Given the description of an element on the screen output the (x, y) to click on. 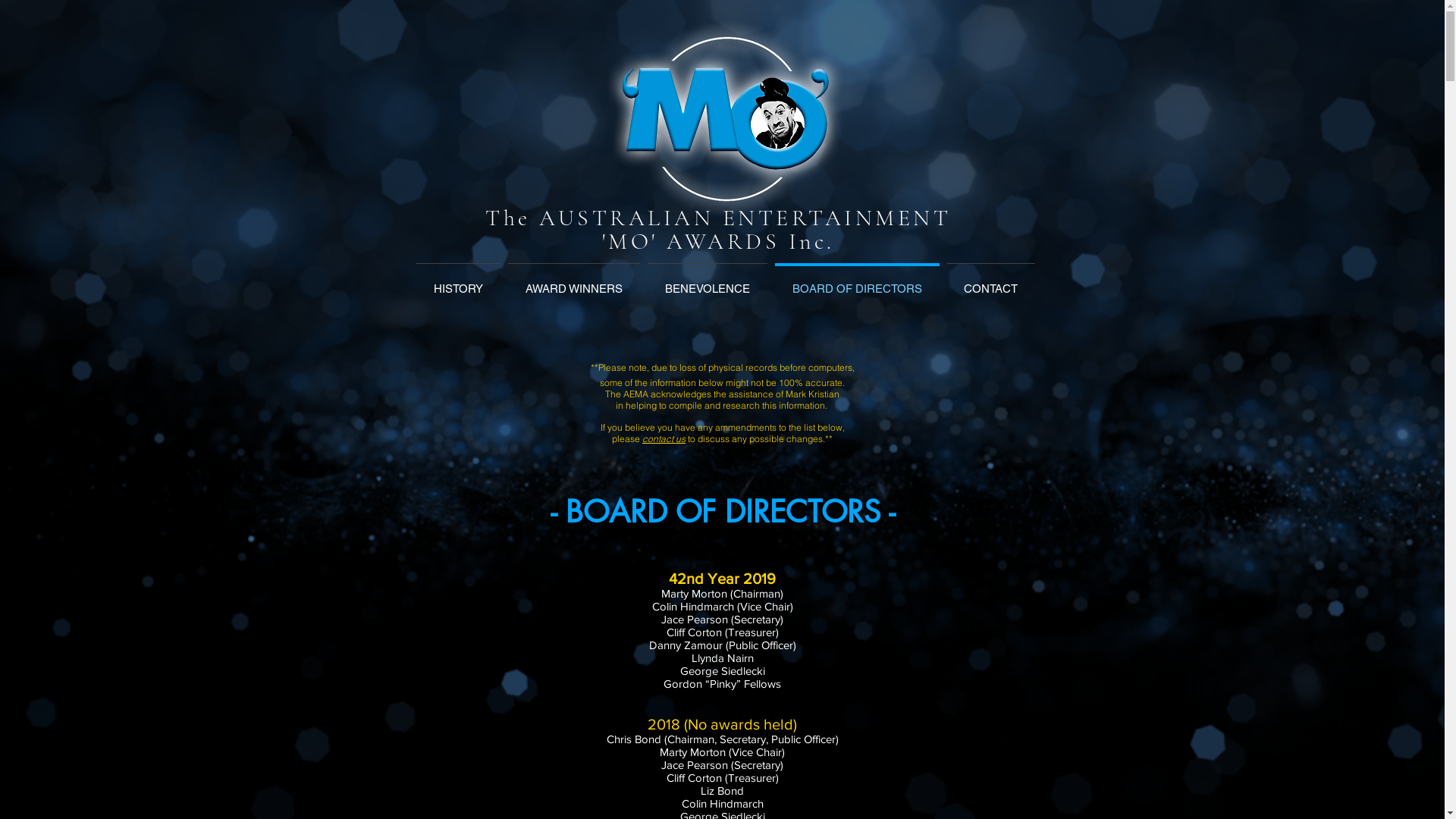
- BOARD OF DIRECTORS - Element type: text (722, 511)
BOARD OF DIRECTORS Element type: text (856, 282)
contact us Element type: text (663, 438)
HISTORY Element type: text (458, 282)
BENEVOLENCE Element type: text (706, 282)
CONTACT Element type: text (990, 282)
AWARD WINNERS Element type: text (573, 282)
